Given the description of an element on the screen output the (x, y) to click on. 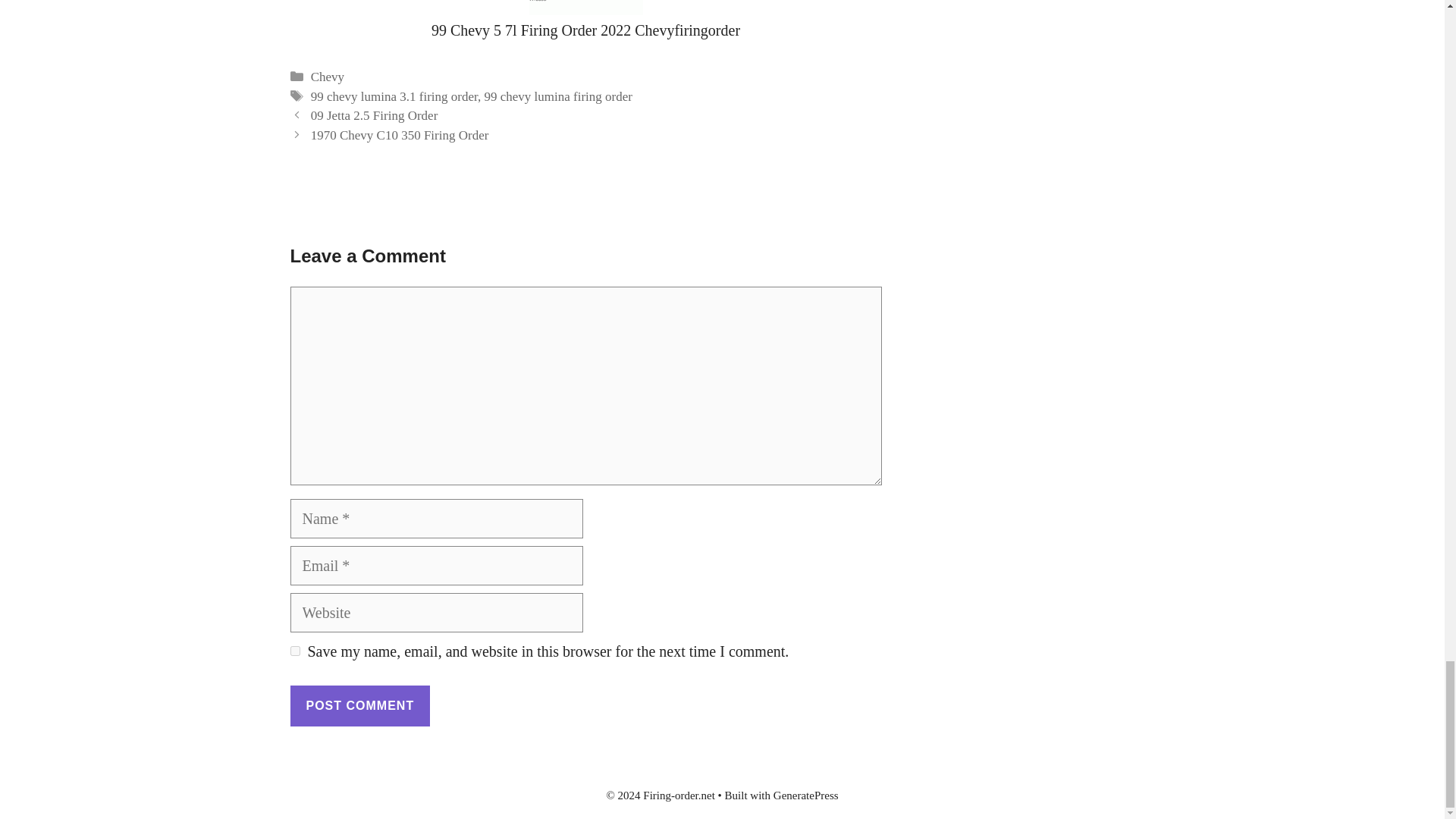
Previous (374, 115)
Next (400, 134)
GeneratePress (805, 795)
Post Comment (359, 705)
Chevy (327, 76)
Post Comment (359, 705)
99 chevy lumina firing order (557, 96)
1970 Chevy C10 350 Firing Order (400, 134)
09 Jetta 2.5 Firing Order (374, 115)
yes (294, 651)
99 chevy lumina 3.1 firing order (394, 96)
